Given the description of an element on the screen output the (x, y) to click on. 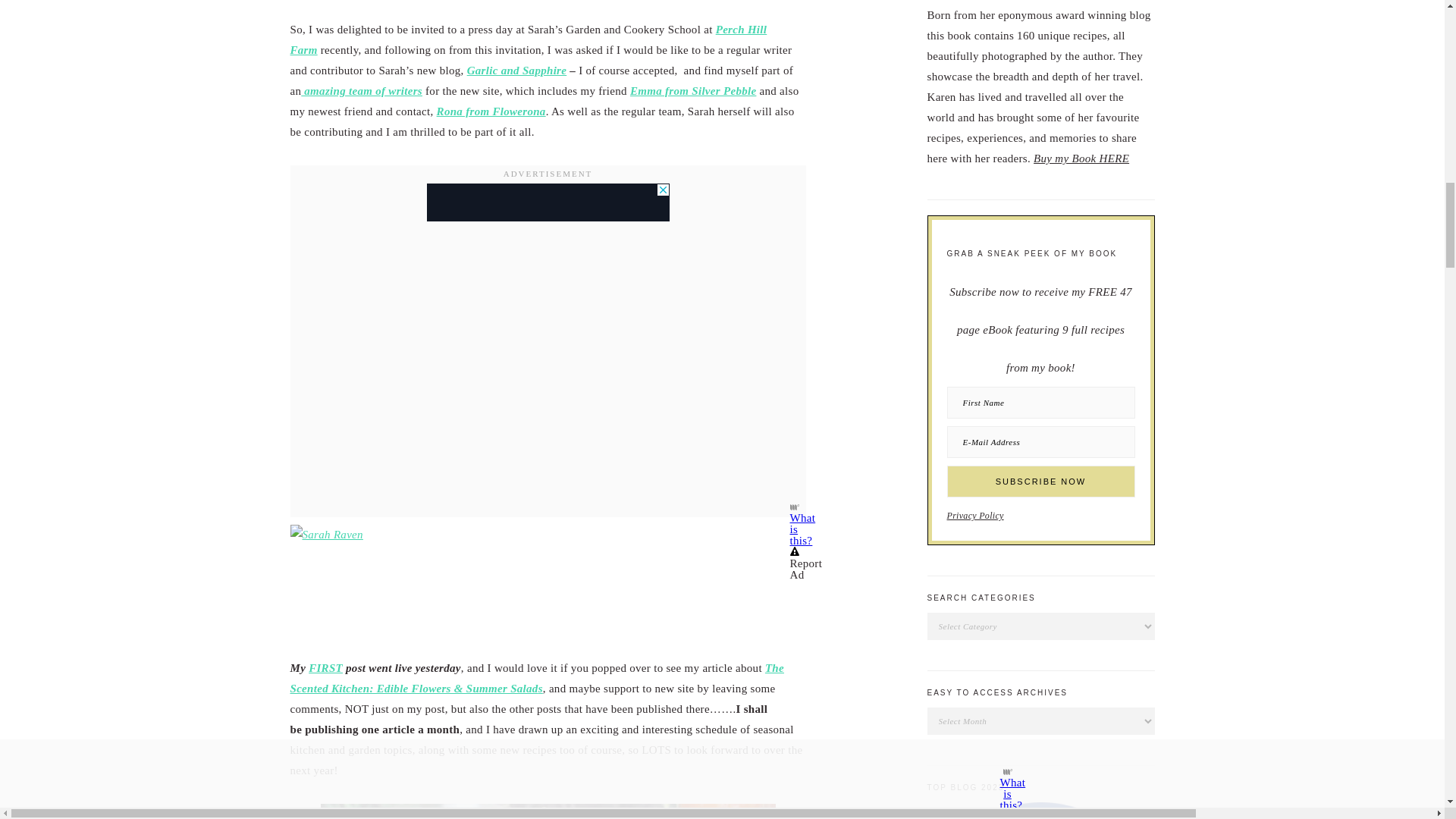
3rd party ad content (547, 202)
Subscribe Now (1040, 481)
Apricot and Lavender Conserve (547, 811)
